Given the description of an element on the screen output the (x, y) to click on. 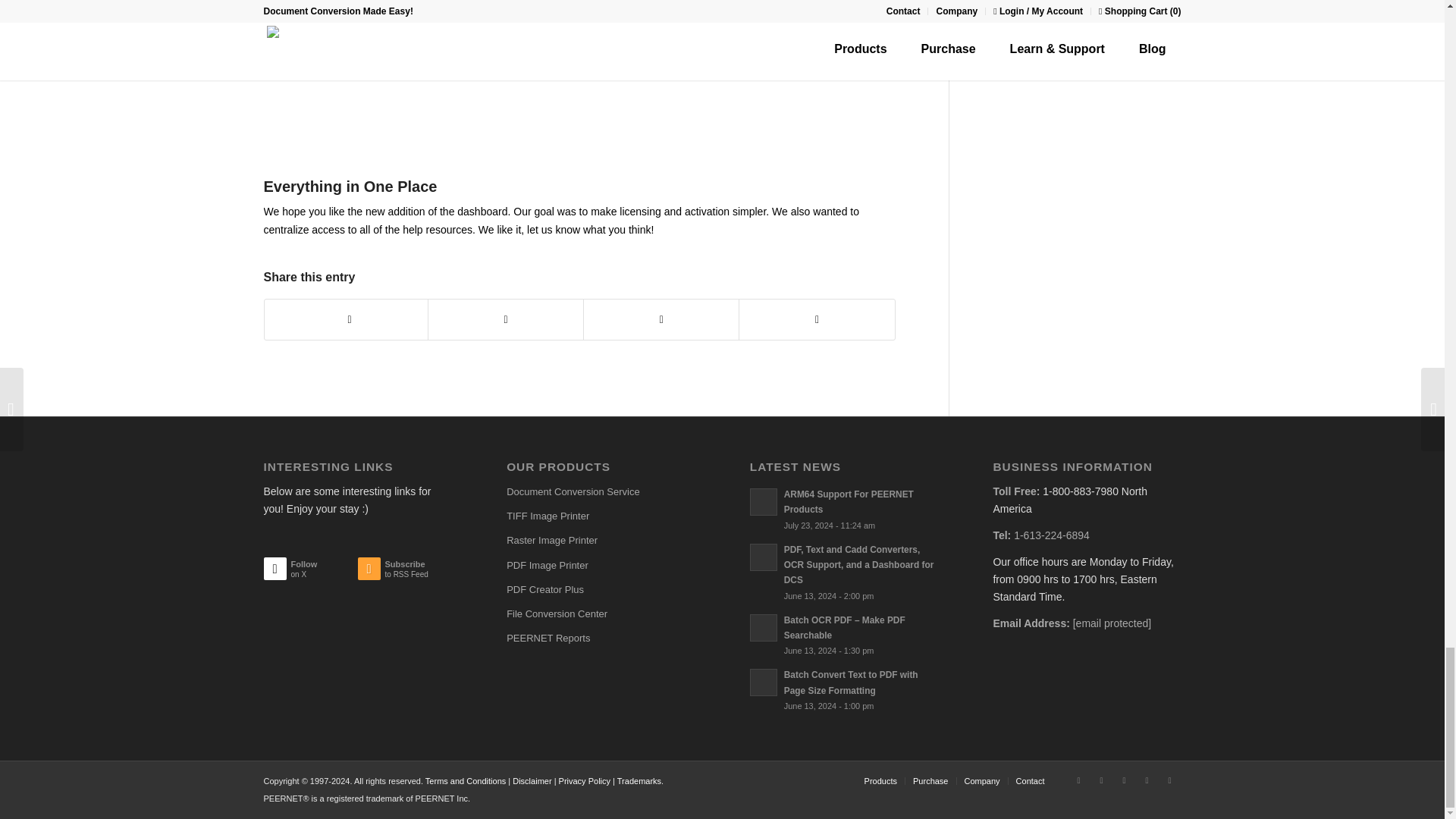
Read: ARM64 Support For PEERNET Products (849, 501)
Read: ARM64 Support For PEERNET Products (763, 501)
